Given the description of an element on the screen output the (x, y) to click on. 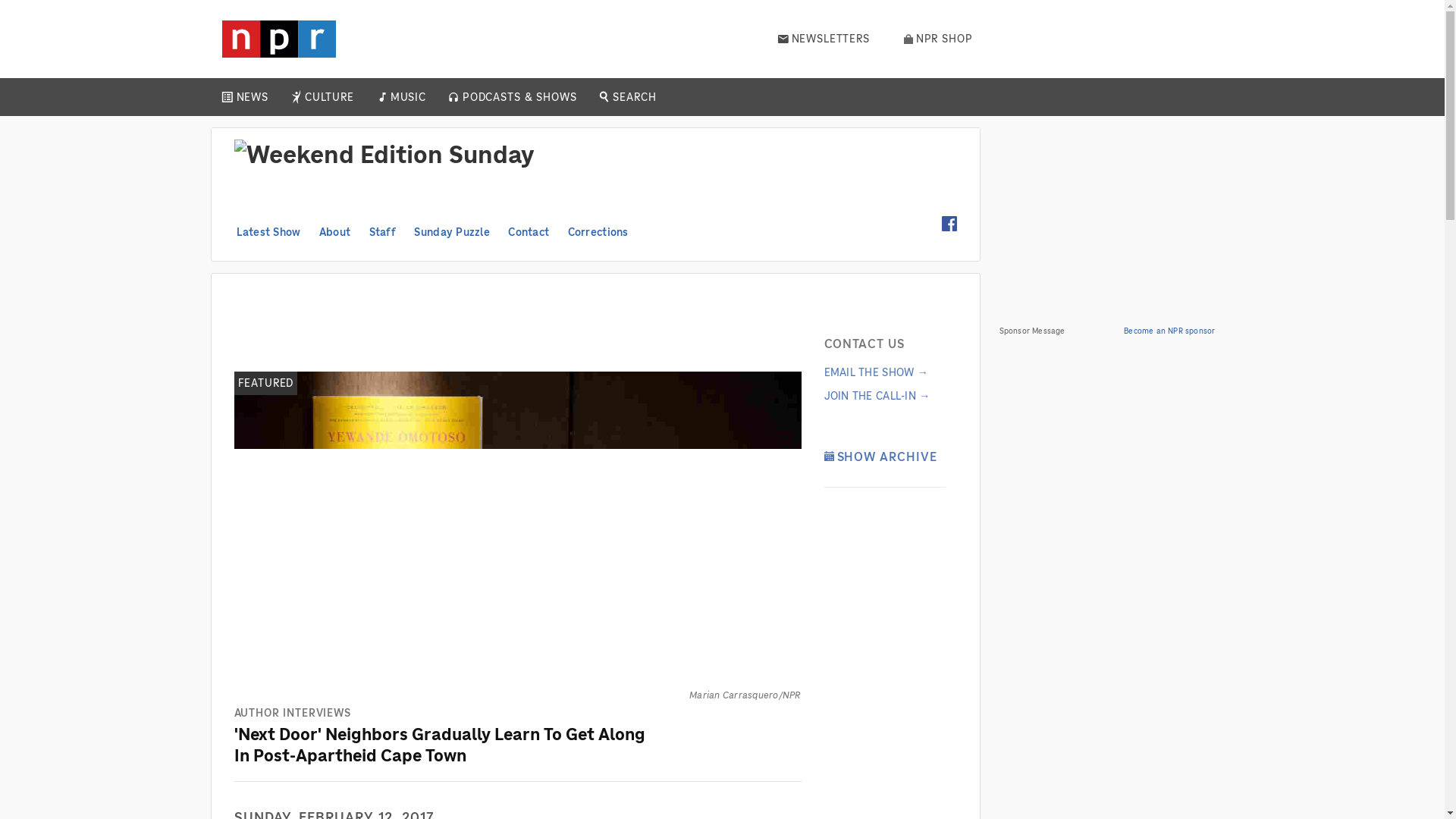
MUSIC (407, 96)
NEWS (251, 96)
NEWSLETTERS (823, 38)
CULTURE (328, 96)
NPR SHOP (938, 38)
